Given the description of an element on the screen output the (x, y) to click on. 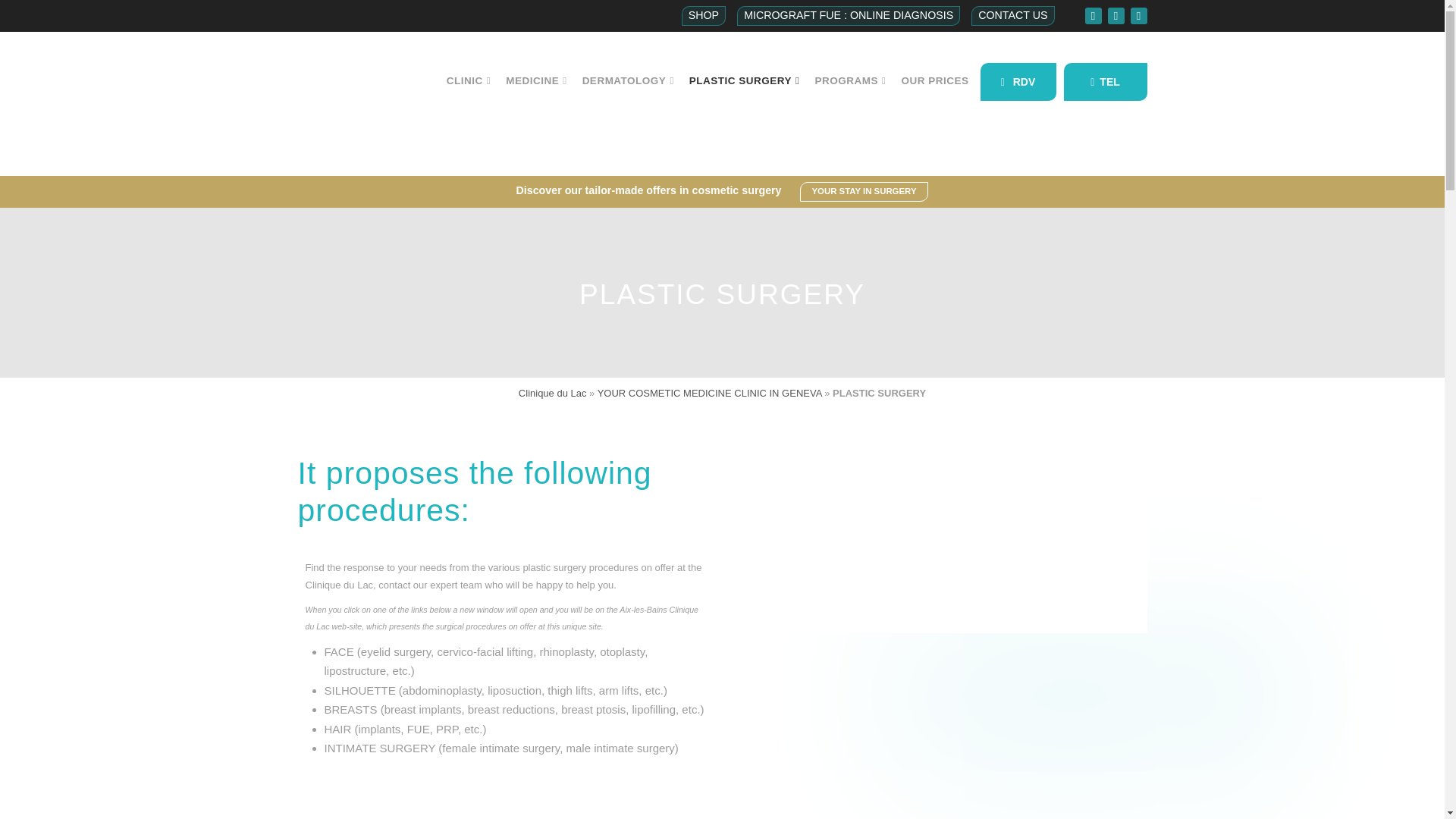
English (336, 15)
Instagram (1115, 15)
Facebook (1092, 15)
LinkedIn (1138, 15)
cdl-logo-resized (350, 103)
